Given the description of an element on the screen output the (x, y) to click on. 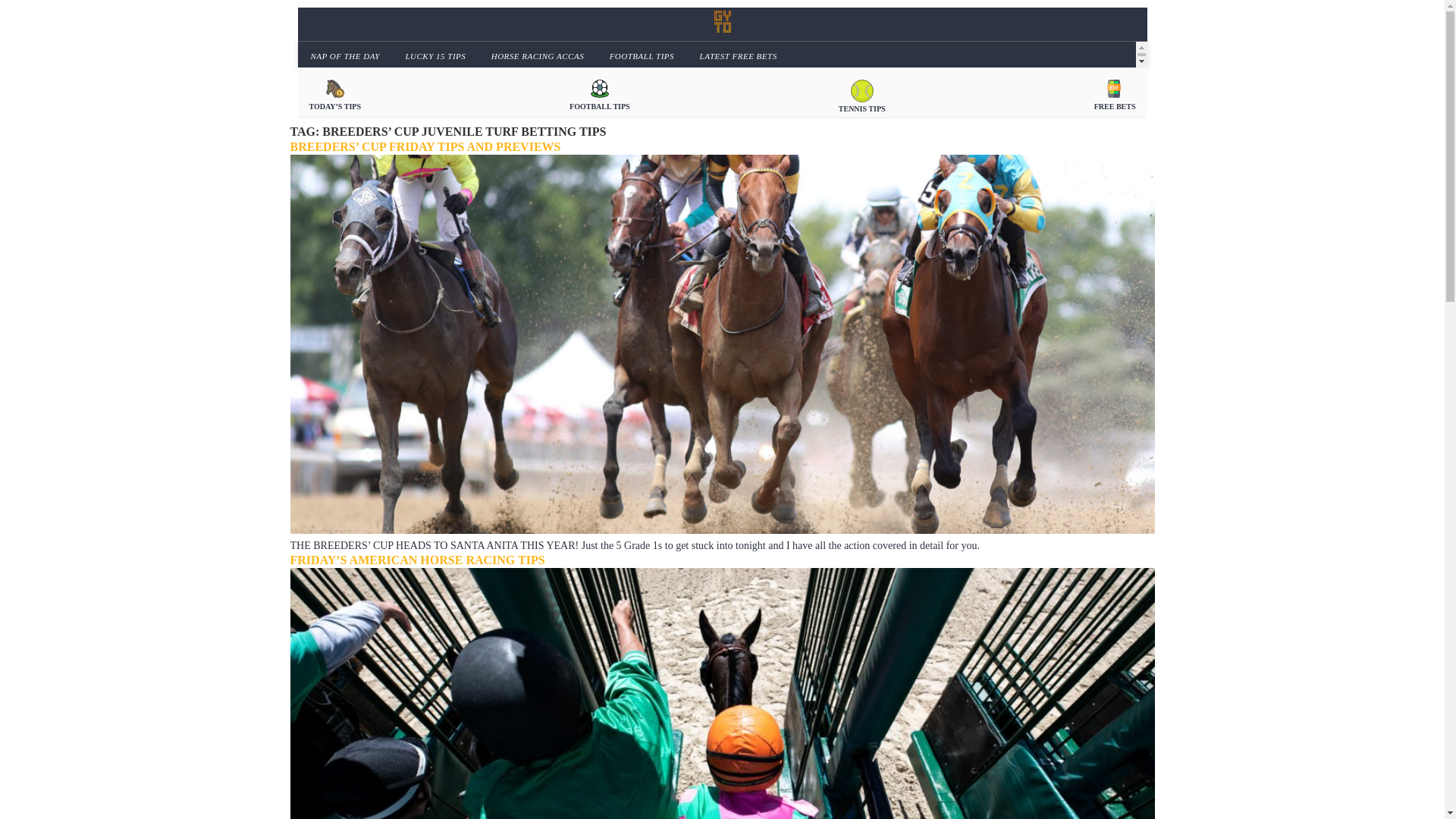
FOOTBALL TIPS (639, 54)
LUCKY 15 TIPS (432, 54)
NAP OF THE DAY (342, 54)
LATEST FREE BETS (736, 54)
HORSE RACING ACCAS (535, 54)
FREE BETS (1114, 93)
FOOTBALL TIPS (599, 93)
TENNIS TIPS (861, 93)
